Given the description of an element on the screen output the (x, y) to click on. 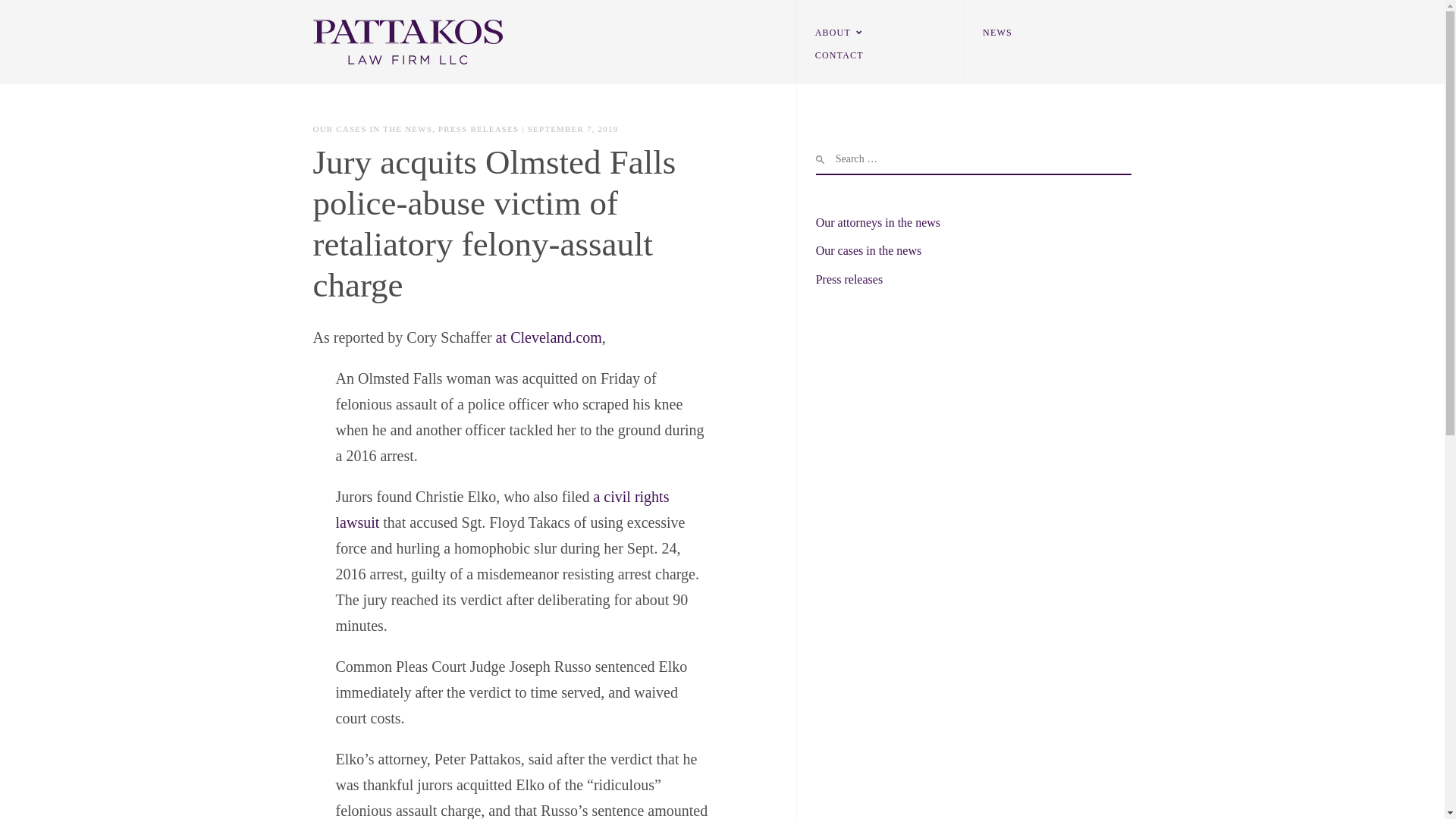
OUR CASES IN THE NEWS (372, 128)
PRESS RELEASES (478, 128)
a civil rights lawsuit (501, 509)
Press releases (848, 278)
CONTACT (835, 55)
NEWS (993, 32)
at Cleveland.com (549, 337)
ABOUT (828, 32)
Our attorneys in the news (877, 222)
Our cases in the news (868, 250)
